Given the description of an element on the screen output the (x, y) to click on. 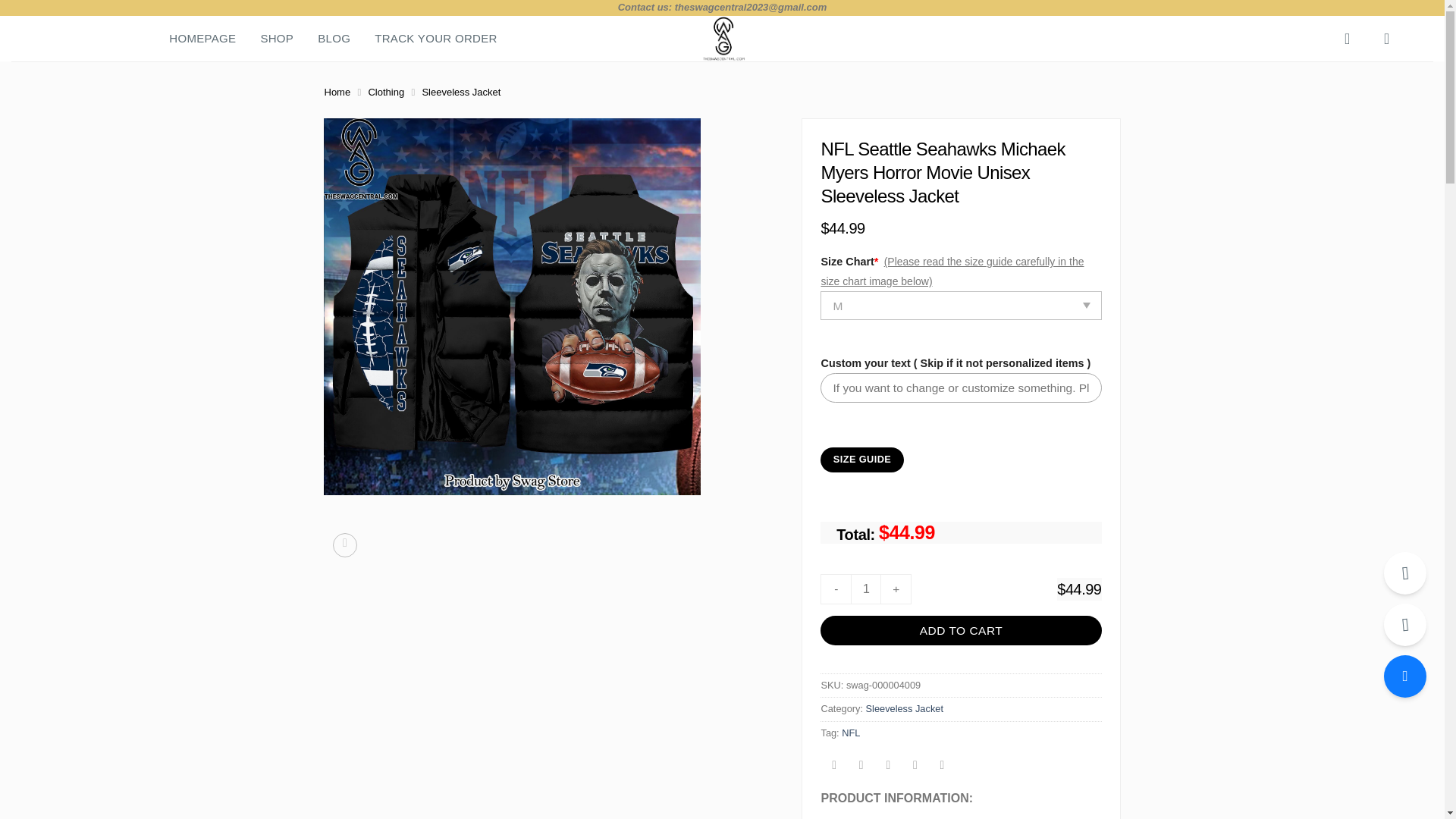
- (835, 589)
SIZE GUIDE (861, 459)
HOMEPAGE (201, 38)
Share on Twitter (861, 766)
Sleeveless Jacket (461, 91)
SHOP (277, 38)
ADD TO CART (960, 630)
Sleeveless Jacket (904, 708)
Share on Facebook (834, 766)
Email to a Friend (888, 766)
Pin on Pinterest (915, 766)
Share on LinkedIn (942, 766)
Clothing (386, 91)
Home (337, 91)
THE SWAG CENTRAL (721, 38)
